Given the description of an element on the screen output the (x, y) to click on. 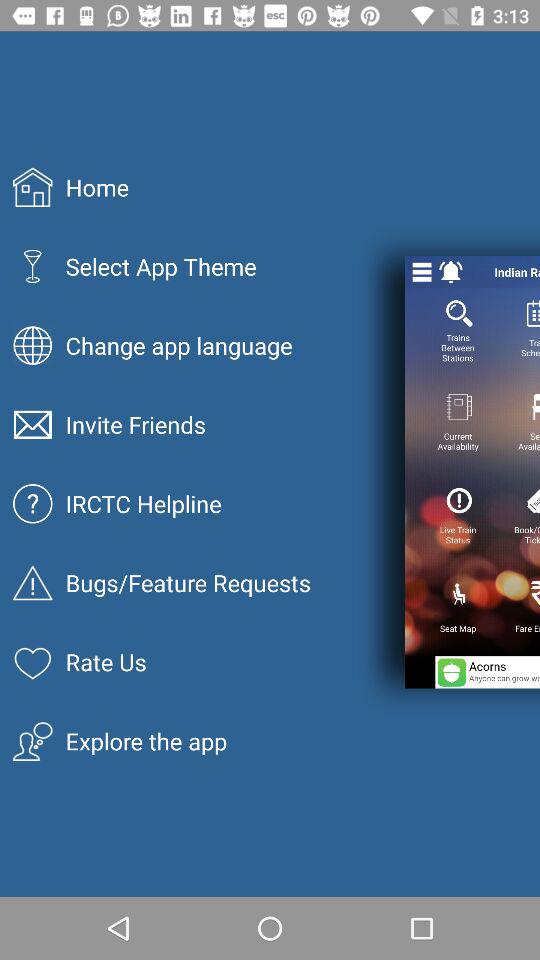
menu (422, 271)
